Given the description of an element on the screen output the (x, y) to click on. 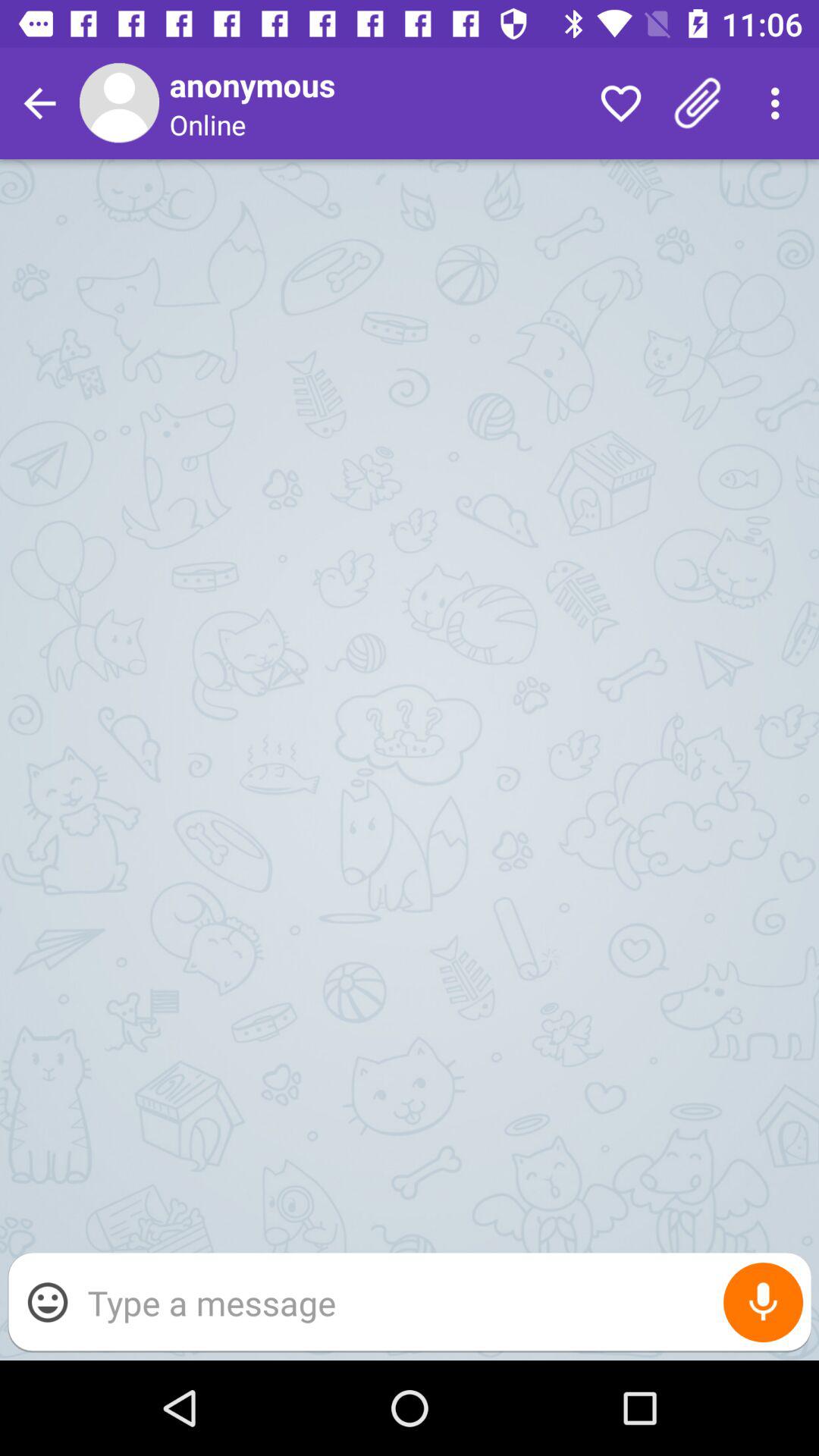
use emoji (47, 1302)
